Given the description of an element on the screen output the (x, y) to click on. 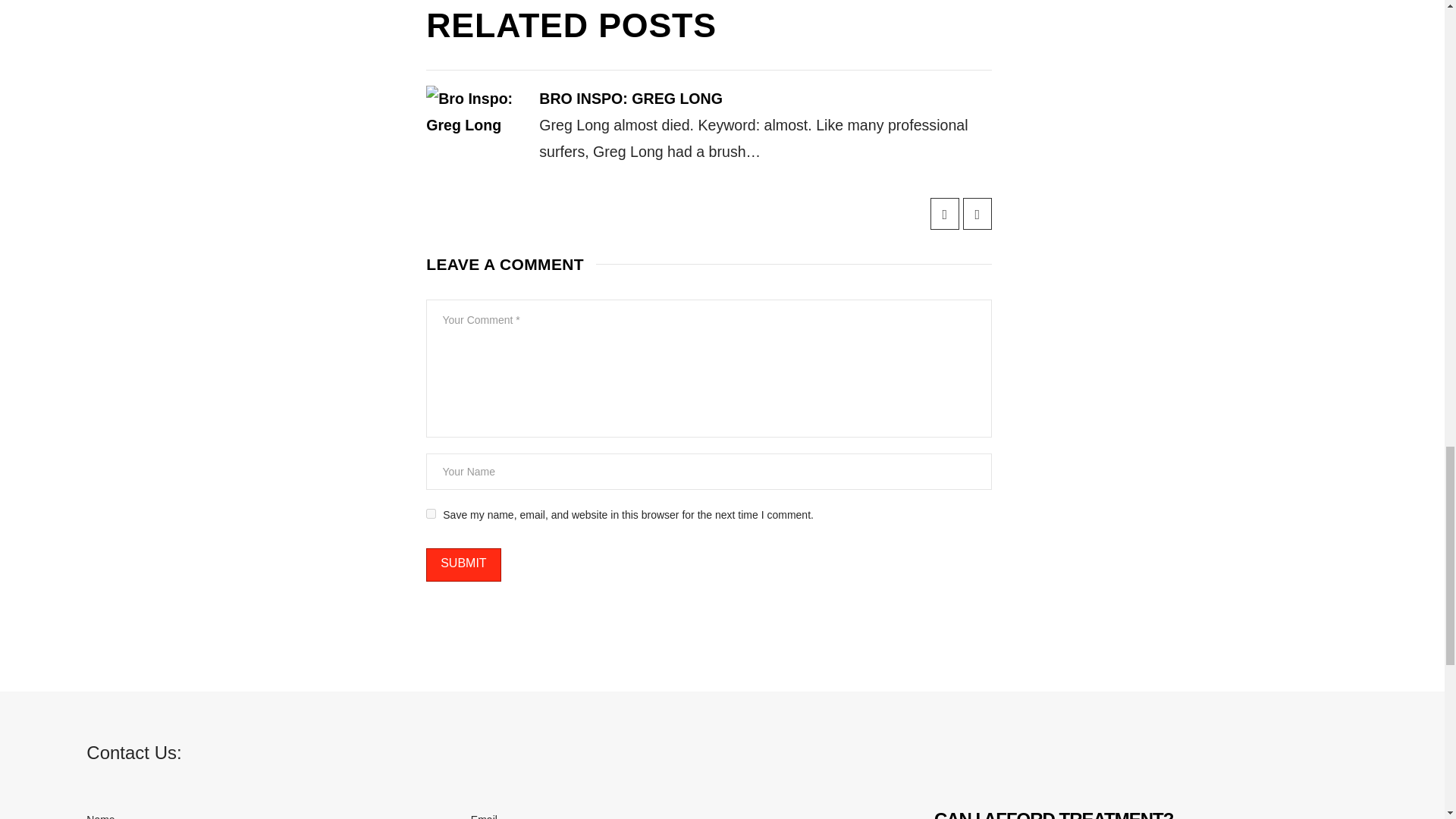
yes (430, 513)
Submit (463, 564)
